Given the description of an element on the screen output the (x, y) to click on. 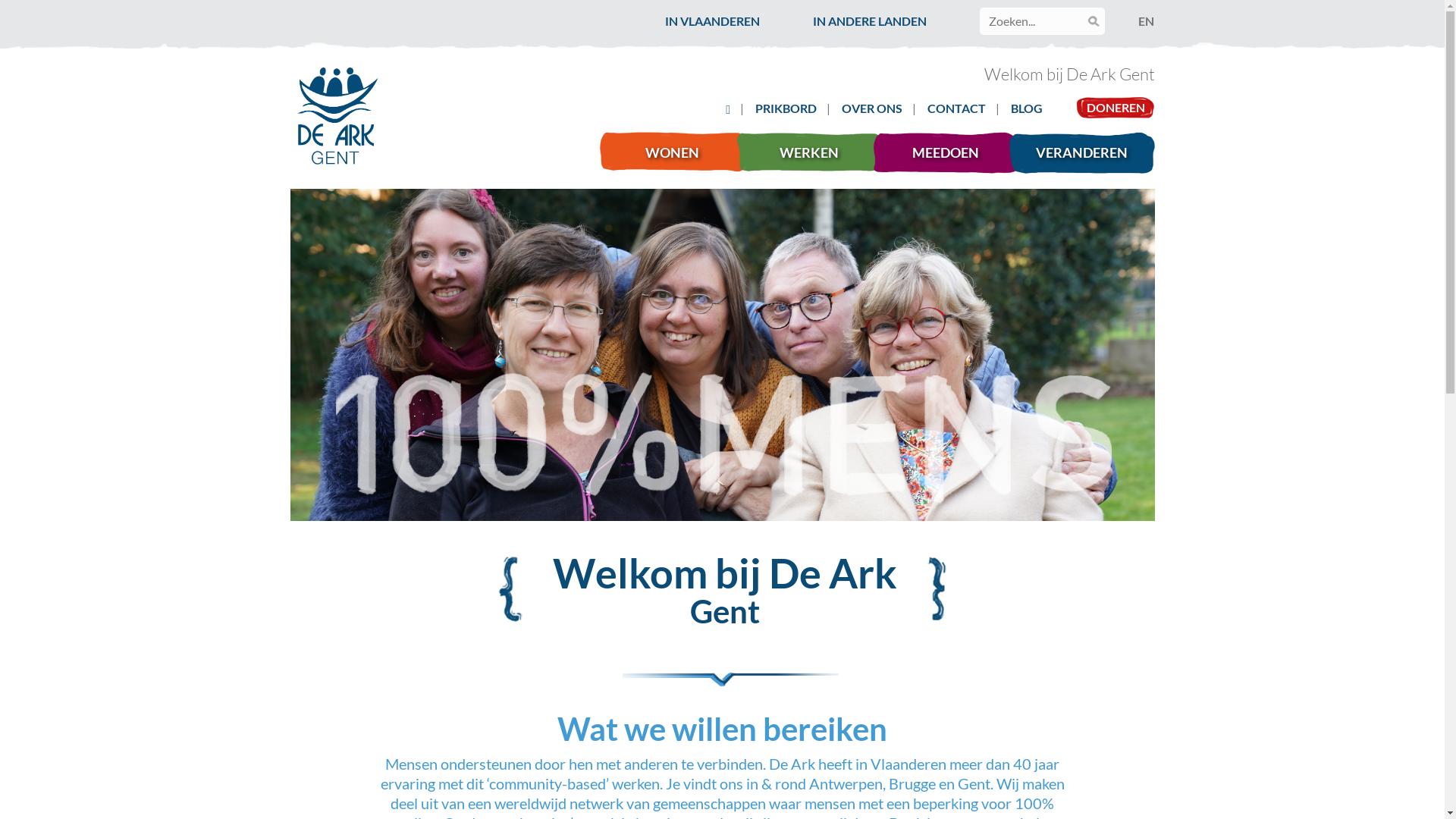
WONEN Element type: text (678, 152)
IN VLAANDEREN Element type: text (712, 20)
WERKEN Element type: text (814, 152)
CONTACT Element type: text (956, 107)
BLOG Element type: text (1026, 107)
MEEDOEN Element type: text (951, 152)
Zoeken Element type: text (25, 11)
OVER ONS Element type: text (871, 107)
DONEREN Element type: text (1115, 107)
VERANDEREN Element type: text (1087, 152)
IN ANDERE LANDEN Element type: text (869, 20)
PRIKBORD Element type: text (785, 107)
EN Element type: text (1146, 21)
